Given the description of an element on the screen output the (x, y) to click on. 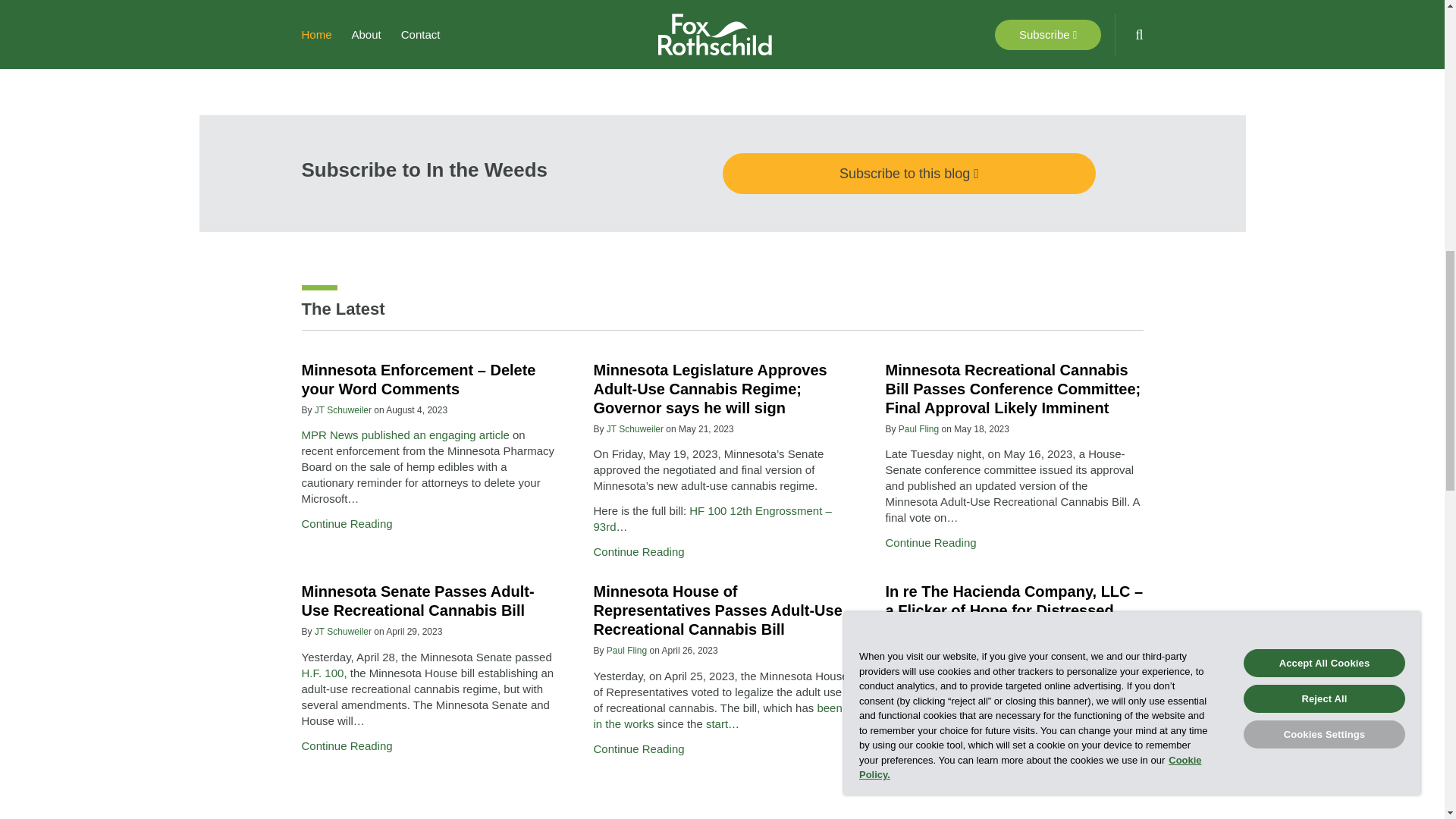
JT Schuweiler (342, 409)
Subscribe to this blog (909, 173)
Minnesota Senate Passes Adult-Use Recreational Cannabis Bill (417, 601)
JT Schuweiler (342, 631)
MPR News published an engaging article (405, 434)
Paul Fling (918, 429)
JT Schuweiler (635, 429)
